Given the description of an element on the screen output the (x, y) to click on. 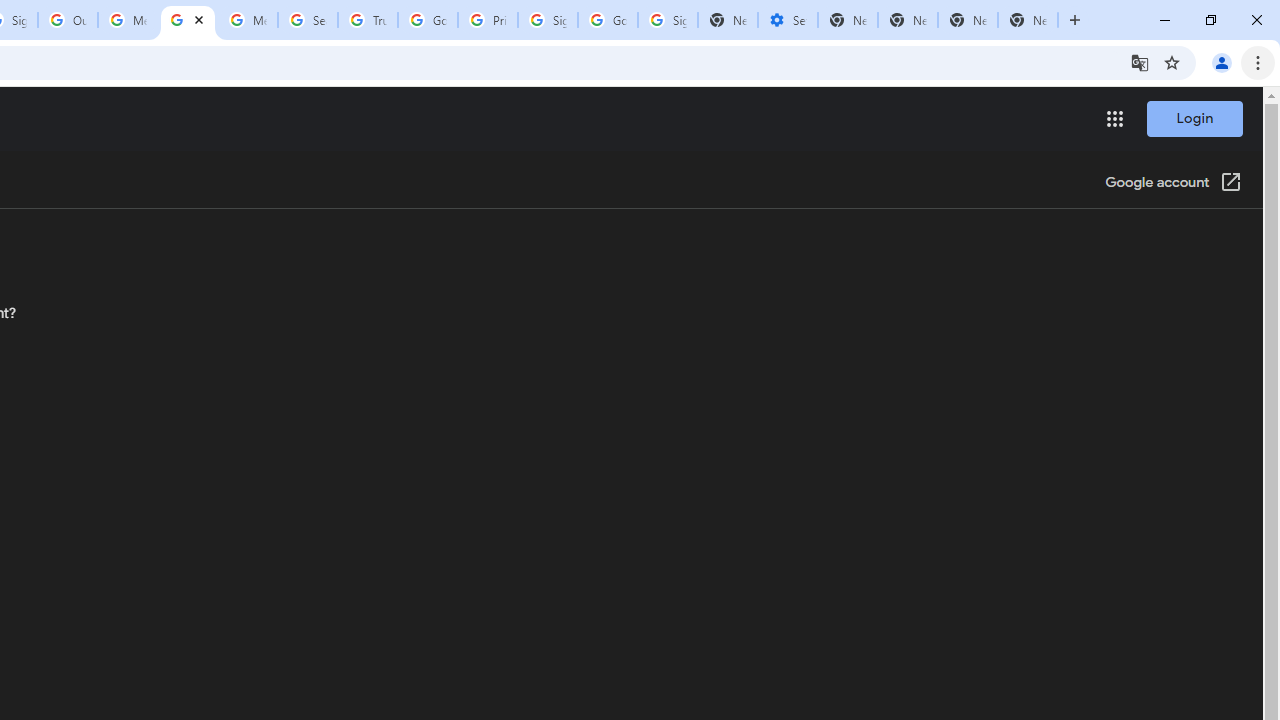
Search our Doodle Library Collection - Google Doodles (307, 20)
Translate this page (1139, 62)
Sign in - Google Accounts (667, 20)
Google Account (Opens in new window) (1173, 183)
